Given the description of an element on the screen output the (x, y) to click on. 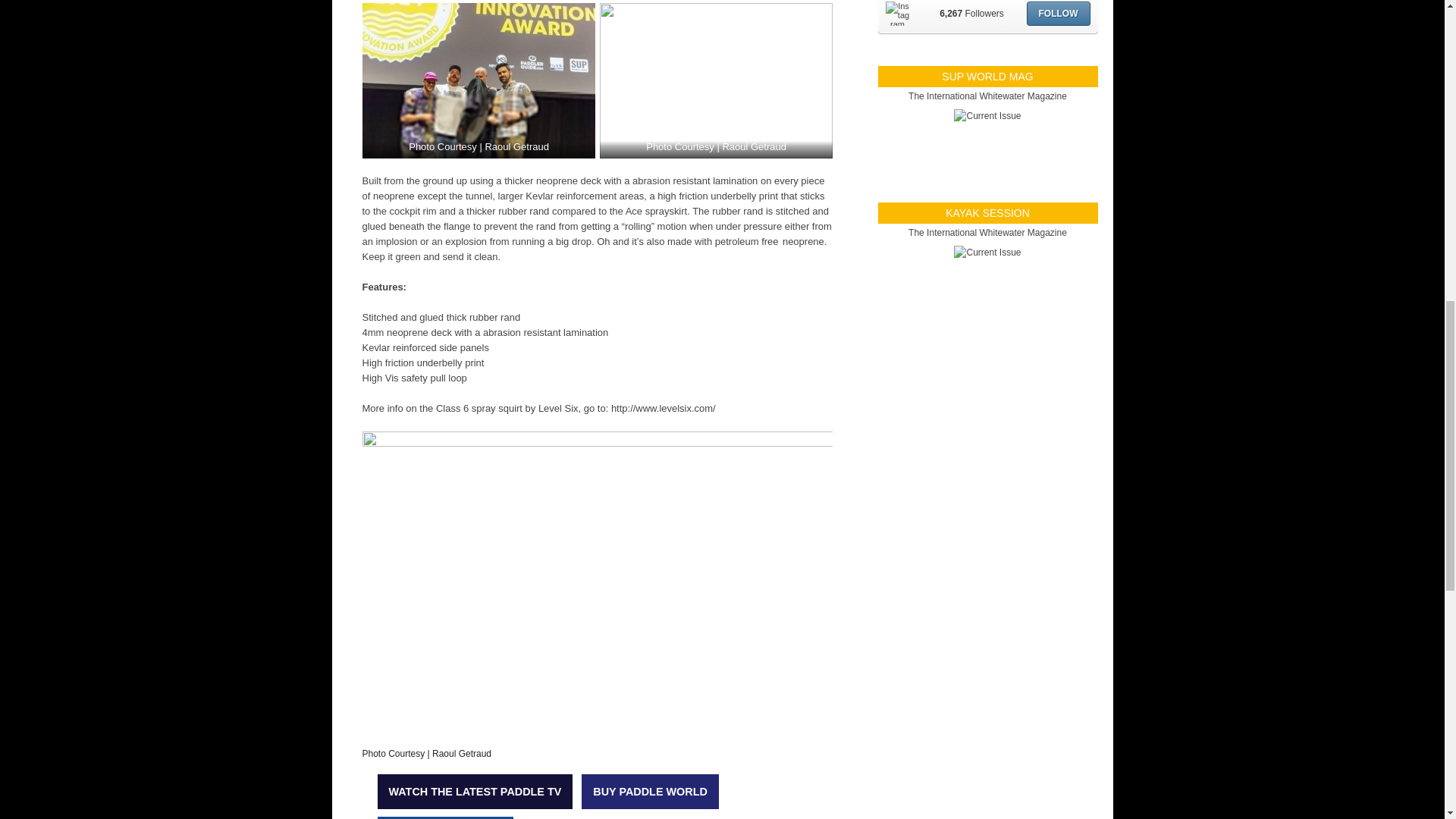
Submit your video (445, 817)
Watch the Latest Paddle TV Video (475, 791)
BUY PADDLE WORLD (649, 791)
WATCH THE LATEST PADDLE TV (475, 791)
Buy Paddle World (649, 791)
SUBMIT YOUR VIDEO (445, 817)
